Given the description of an element on the screen output the (x, y) to click on. 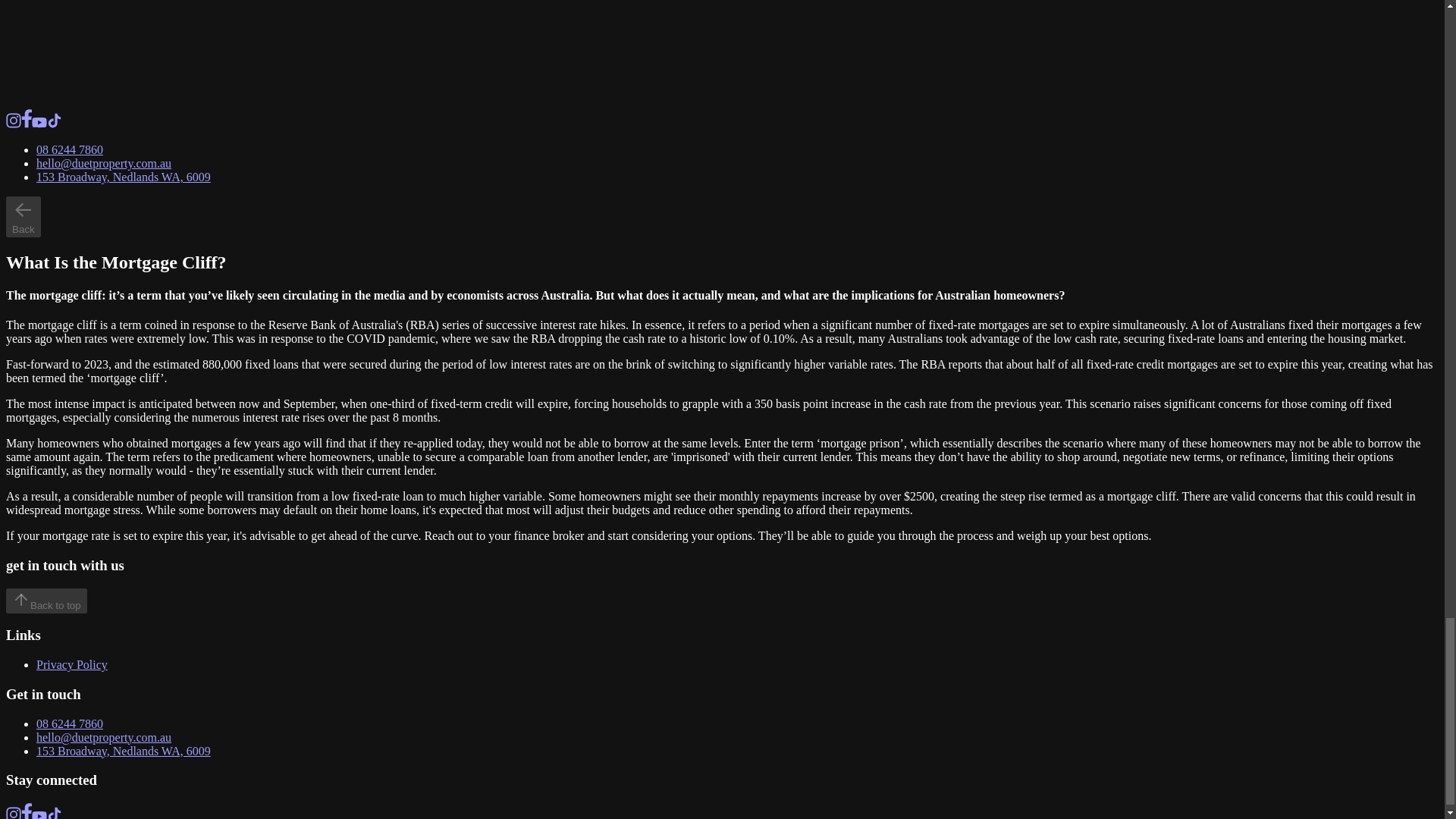
08 6244 7860 (69, 149)
Back to top (46, 600)
153 Broadway, Nedlands WA, 6009 (123, 750)
Privacy Policy (71, 664)
153 Broadway, Nedlands WA, 6009 (123, 176)
08 6244 7860 (69, 723)
